Given the description of an element on the screen output the (x, y) to click on. 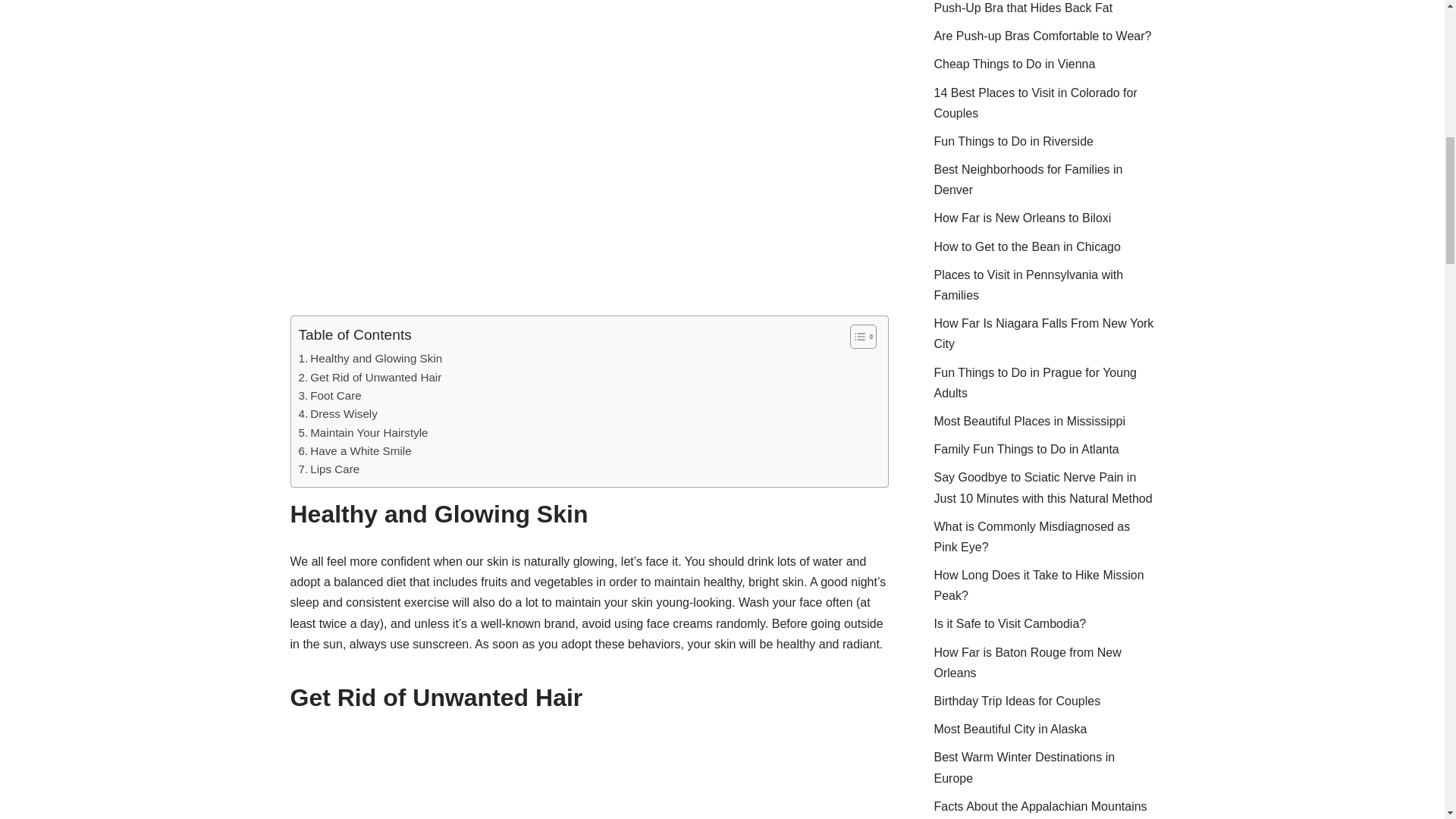
Have a White Smile (355, 451)
Dress Wisely (337, 413)
Maintain Your Hairstyle (363, 433)
Foot Care (329, 395)
Get Rid of Unwanted Hair (370, 377)
Maintain Your Hairstyle (363, 433)
Foot Care (329, 395)
Lips Care (328, 469)
Healthy and Glowing Skin (370, 358)
Have a White Smile (355, 451)
Healthy and Glowing Skin (370, 358)
Lips Care (328, 469)
Get Rid of Unwanted Hair (370, 377)
Dress Wisely (337, 413)
